Given the description of an element on the screen output the (x, y) to click on. 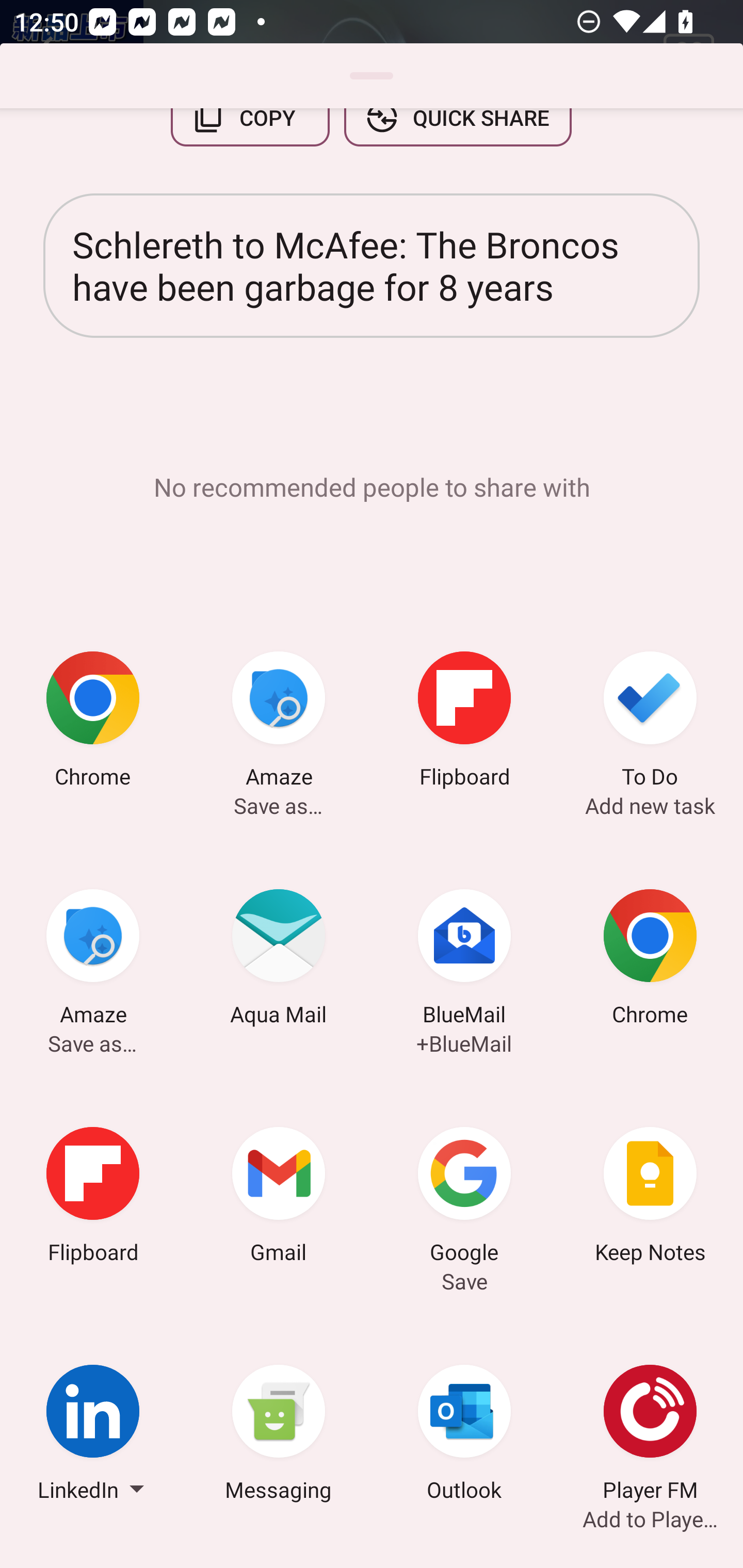
COPY (249, 134)
QUICK SHARE (457, 134)
Chrome (92, 722)
Amaze Save as… (278, 722)
Flipboard (464, 722)
To Do Add new task (650, 722)
Amaze Save as… (92, 960)
Aqua Mail (278, 960)
BlueMail +BlueMail (464, 960)
Chrome (650, 960)
Flipboard (92, 1197)
Gmail (278, 1197)
Google Save (464, 1197)
Keep Notes (650, 1197)
LinkedIn (92, 1436)
Messaging (278, 1436)
Outlook (464, 1436)
Player FM Add to Player FM (650, 1436)
